Given the description of an element on the screen output the (x, y) to click on. 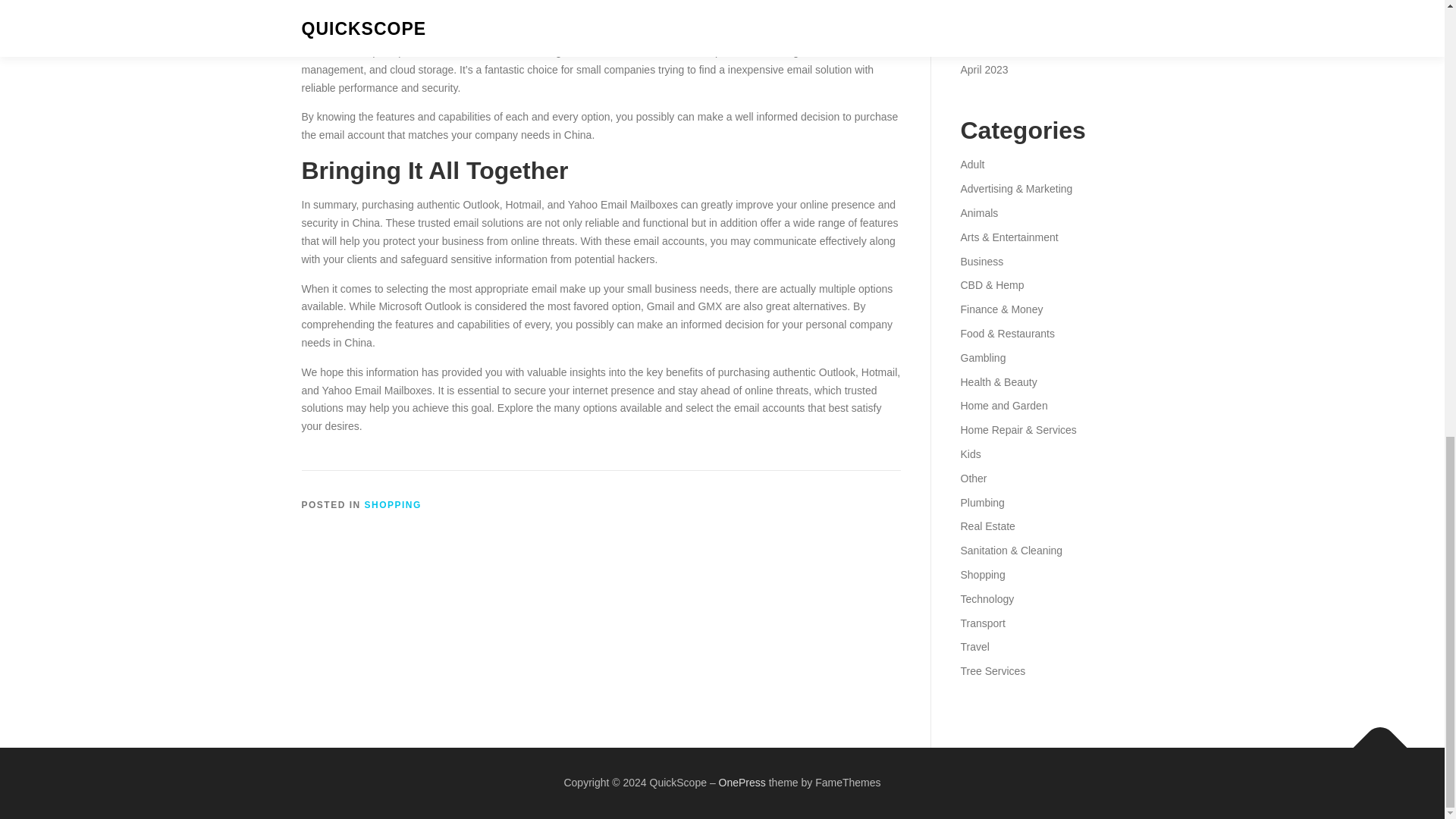
May 2023 (982, 45)
Adult (971, 164)
Business (981, 261)
June 2023 (984, 21)
Animals (978, 213)
Back To Top (1372, 740)
July 2023 (982, 2)
April 2023 (983, 69)
SHOPPING (393, 504)
